Given the description of an element on the screen output the (x, y) to click on. 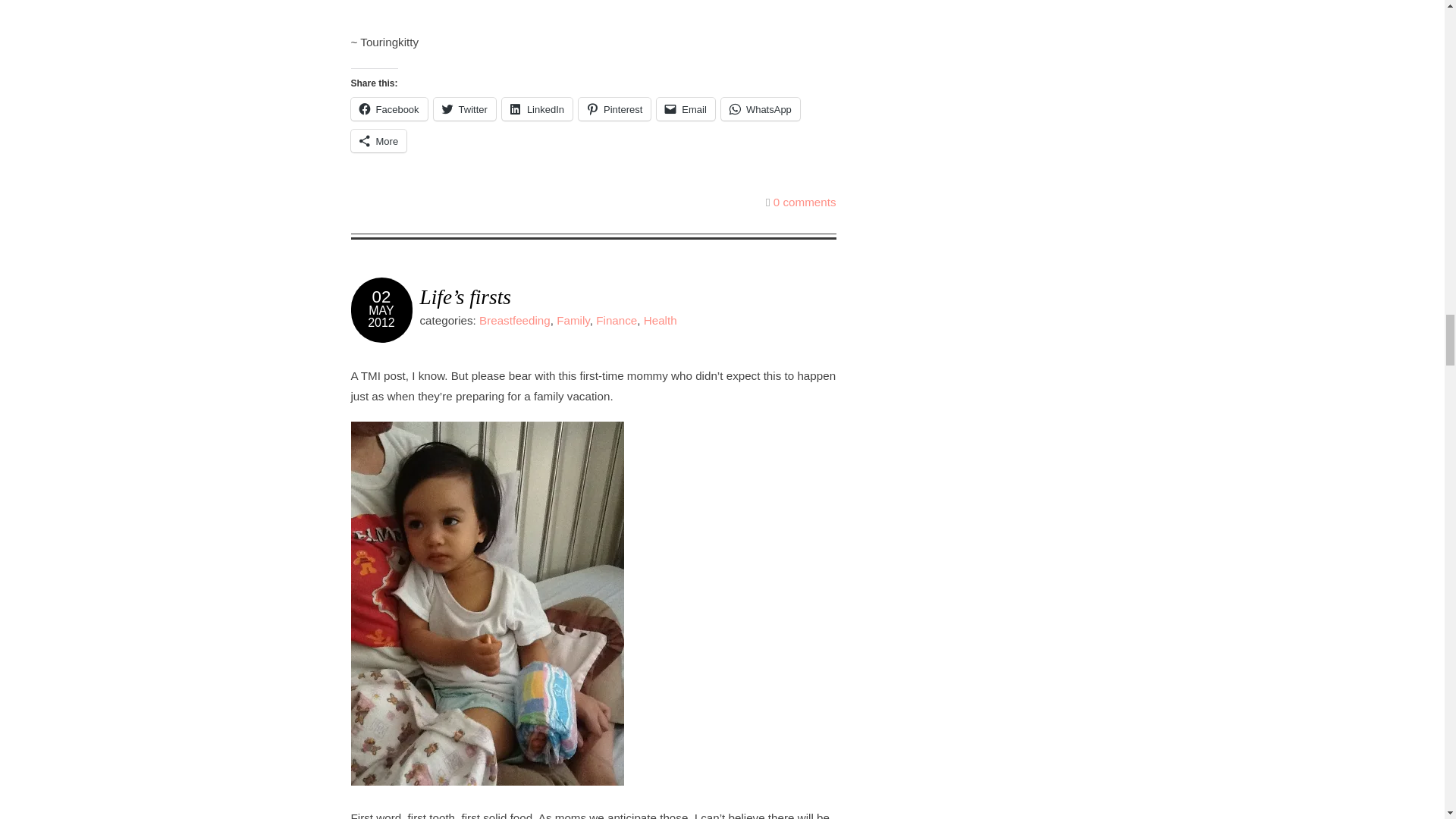
Click to share on Facebook (388, 108)
Click to share on Twitter (464, 108)
